Given the description of an element on the screen output the (x, y) to click on. 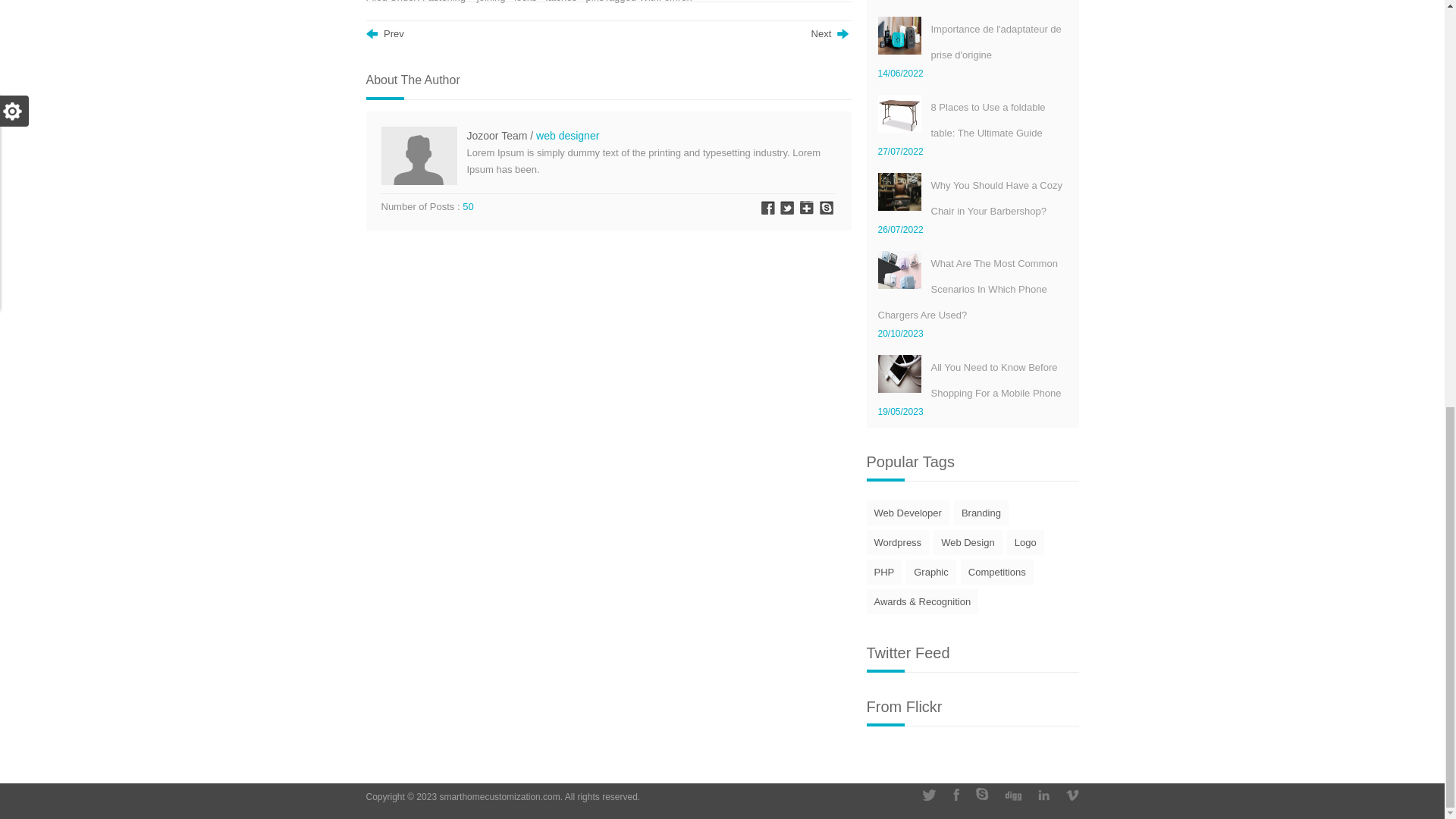
Importance de l'adaptateur de prise d'origine (996, 41)
Why You Should Have a Cozy Chair in Your Barbershop? (996, 198)
Web Design (968, 542)
Web Developer (907, 512)
8 Places to Use a foldable table: The Ultimate Guide (988, 119)
Branding (981, 512)
Next   (830, 33)
All You Need to Know Before Shopping For a Mobile Phone (996, 379)
Why Nio Stock Dropped the Last Day of 2021 Edit My Quotes (384, 33)
Importance de l'adaptateur de prise d'origine (899, 35)
Prev (384, 33)
Wordpress (897, 542)
Importance de l'adaptateur de prise d'origine (996, 41)
